Given the description of an element on the screen output the (x, y) to click on. 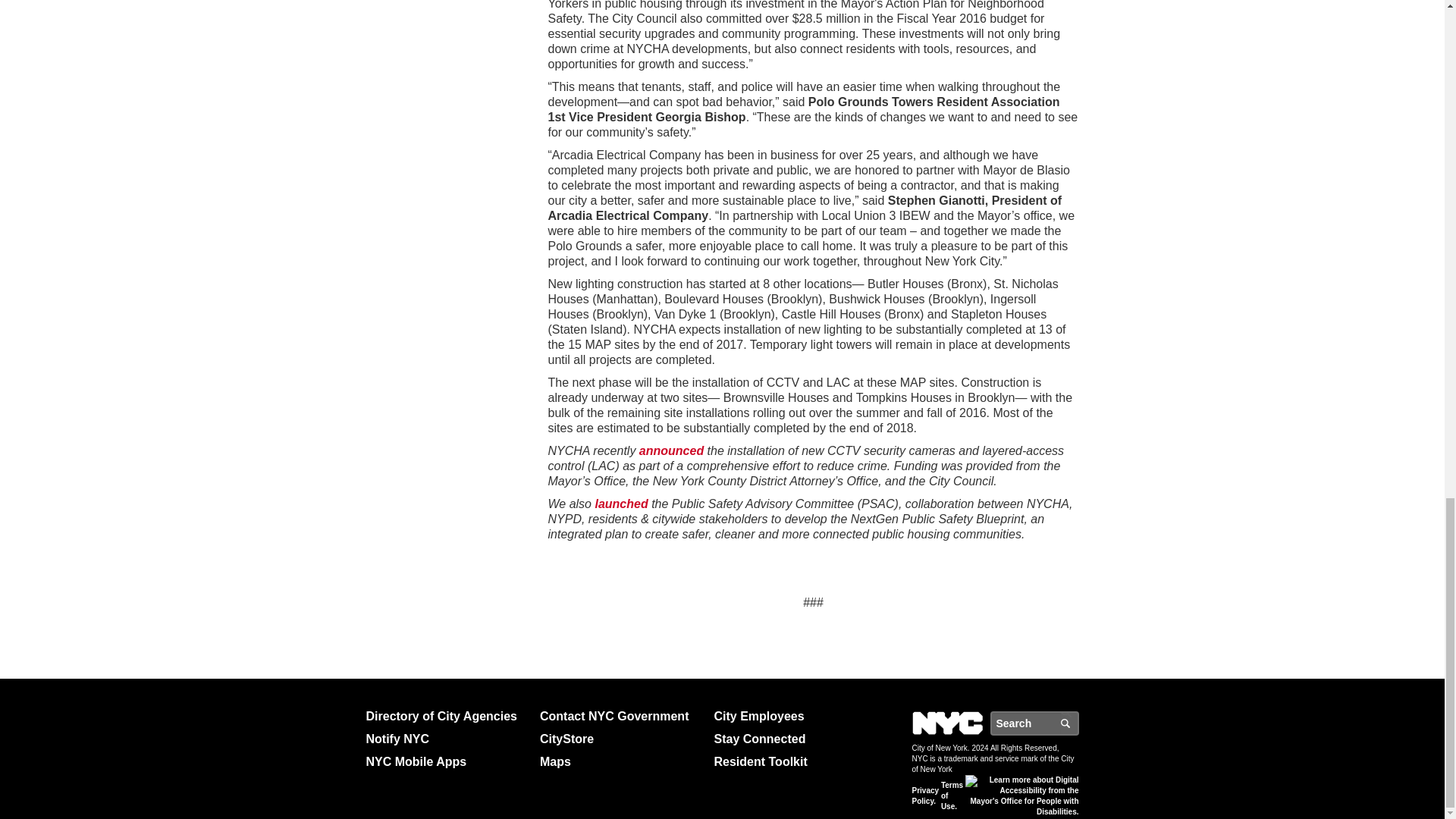
announced (671, 450)
Notify NYC (446, 739)
Resident Toolkit (795, 762)
Privacy Policy. (925, 795)
Directory of City Agencies (446, 716)
NYC Mobile Apps (446, 762)
launched (620, 503)
Search (1068, 723)
City Employees (795, 716)
CityStore (620, 739)
Stay Connected (795, 739)
Privacy Ploicy  (925, 795)
Contact NYC Government (620, 716)
Terms of Use (951, 796)
Maps (620, 762)
